Given the description of an element on the screen output the (x, y) to click on. 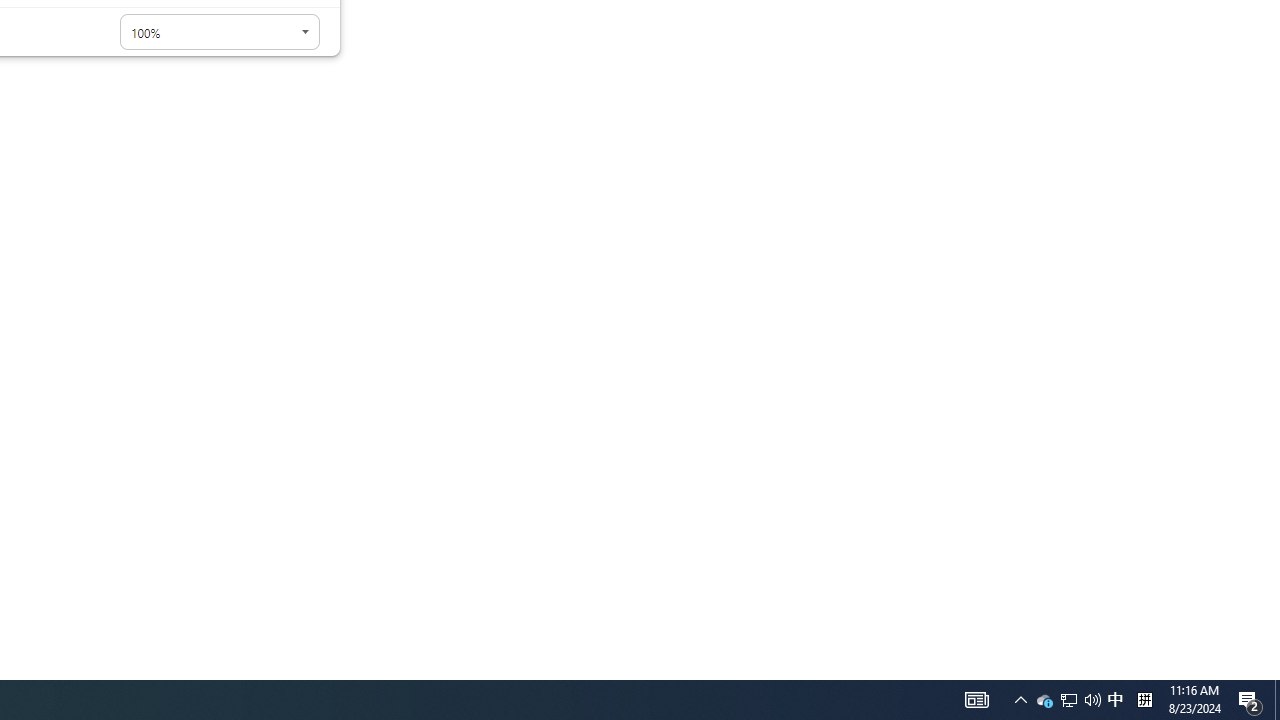
Page zoom (219, 32)
